Given the description of an element on the screen output the (x, y) to click on. 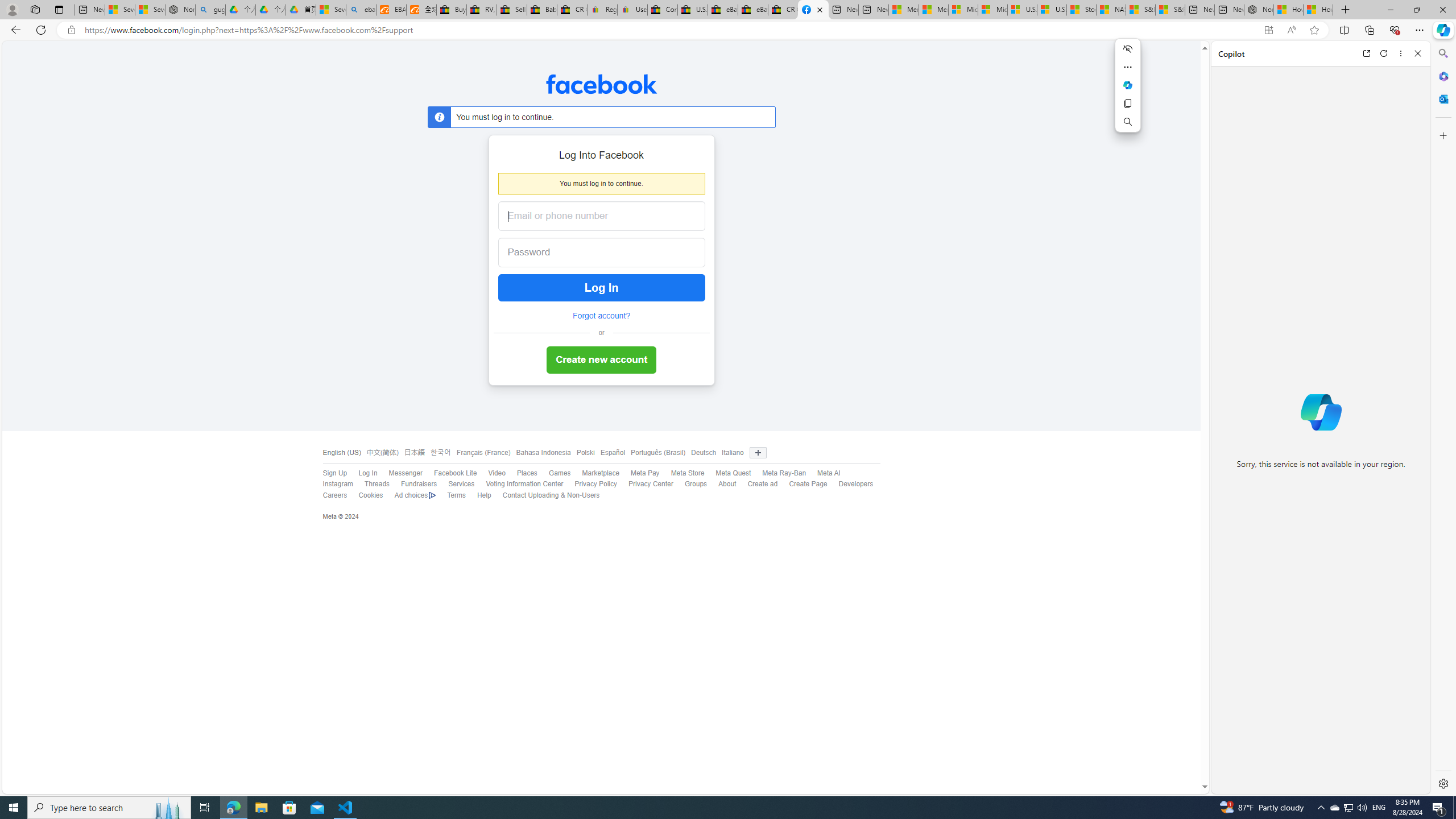
Voting Information Center (524, 483)
Forgot account? (601, 316)
Italiano (730, 452)
